Given the description of an element on the screen output the (x, y) to click on. 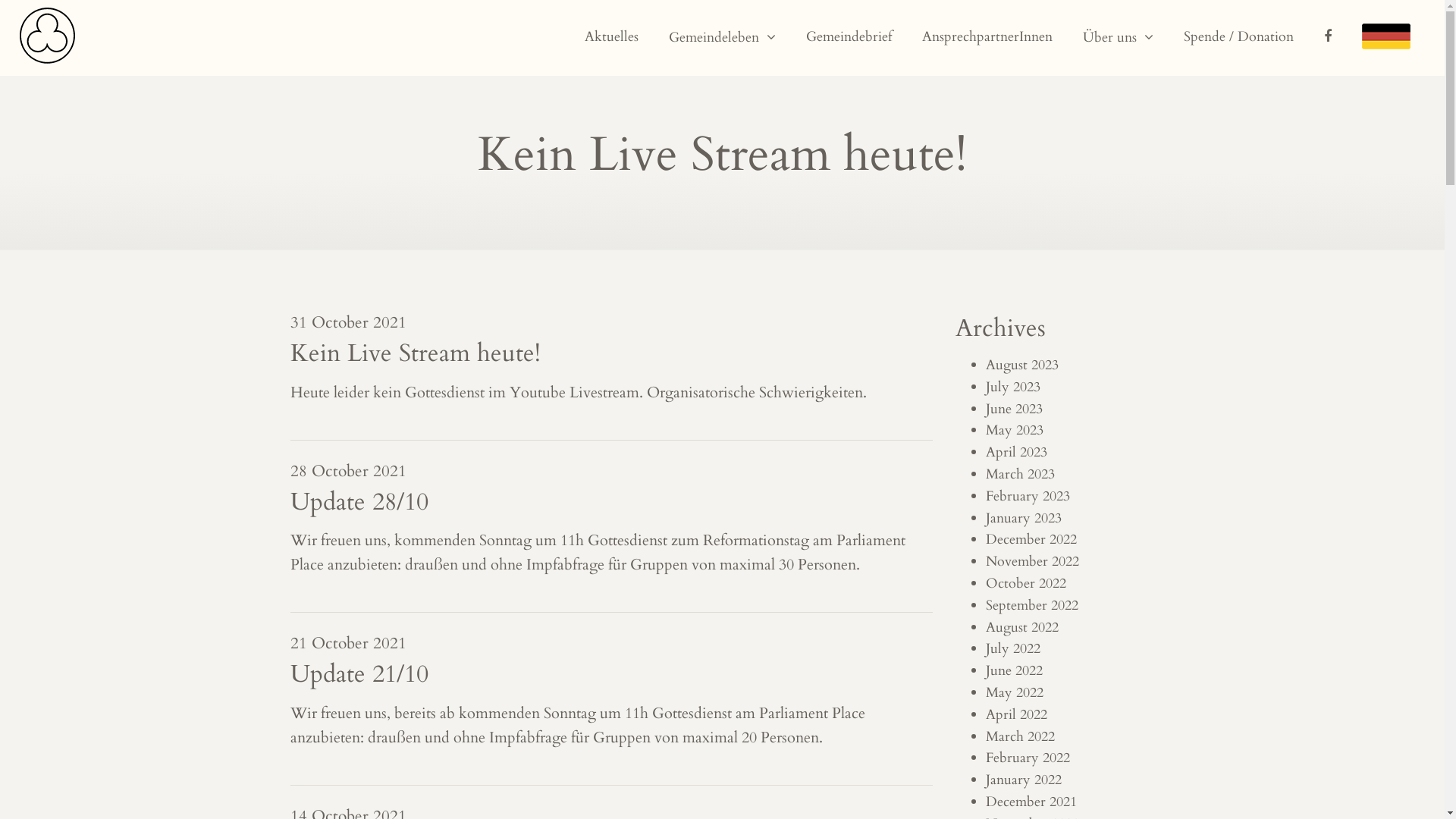
April 2022 Element type: text (1016, 714)
January 2022 Element type: text (1023, 779)
Kein Live Stream heute! Element type: text (414, 353)
July 2023 Element type: text (1012, 386)
May 2022 Element type: text (1014, 692)
June 2023 Element type: text (1013, 408)
October 2022 Element type: text (1025, 583)
July 2022 Element type: text (1012, 648)
December 2022 Element type: text (1030, 539)
September 2022 Element type: text (1031, 605)
November 2022 Element type: text (1032, 561)
Spende / Donation Element type: text (1238, 37)
January 2023 Element type: text (1023, 517)
Update 28/10 Element type: text (358, 501)
March 2023 Element type: text (1019, 473)
March 2022 Element type: text (1019, 736)
AnsprechpartnerInnen Element type: text (986, 37)
April 2023 Element type: text (1016, 451)
Gemeindeleben Element type: text (721, 37)
February 2022 Element type: text (1027, 757)
Aktuelles Element type: text (611, 37)
August 2022 Element type: text (1021, 627)
Gemeindebrief Element type: text (848, 37)
August 2023 Element type: text (1021, 364)
May 2023 Element type: text (1014, 429)
June 2022 Element type: text (1013, 670)
February 2023 Element type: text (1027, 495)
Update 21/10 Element type: text (358, 674)
December 2021 Element type: text (1030, 801)
